Given the description of an element on the screen output the (x, y) to click on. 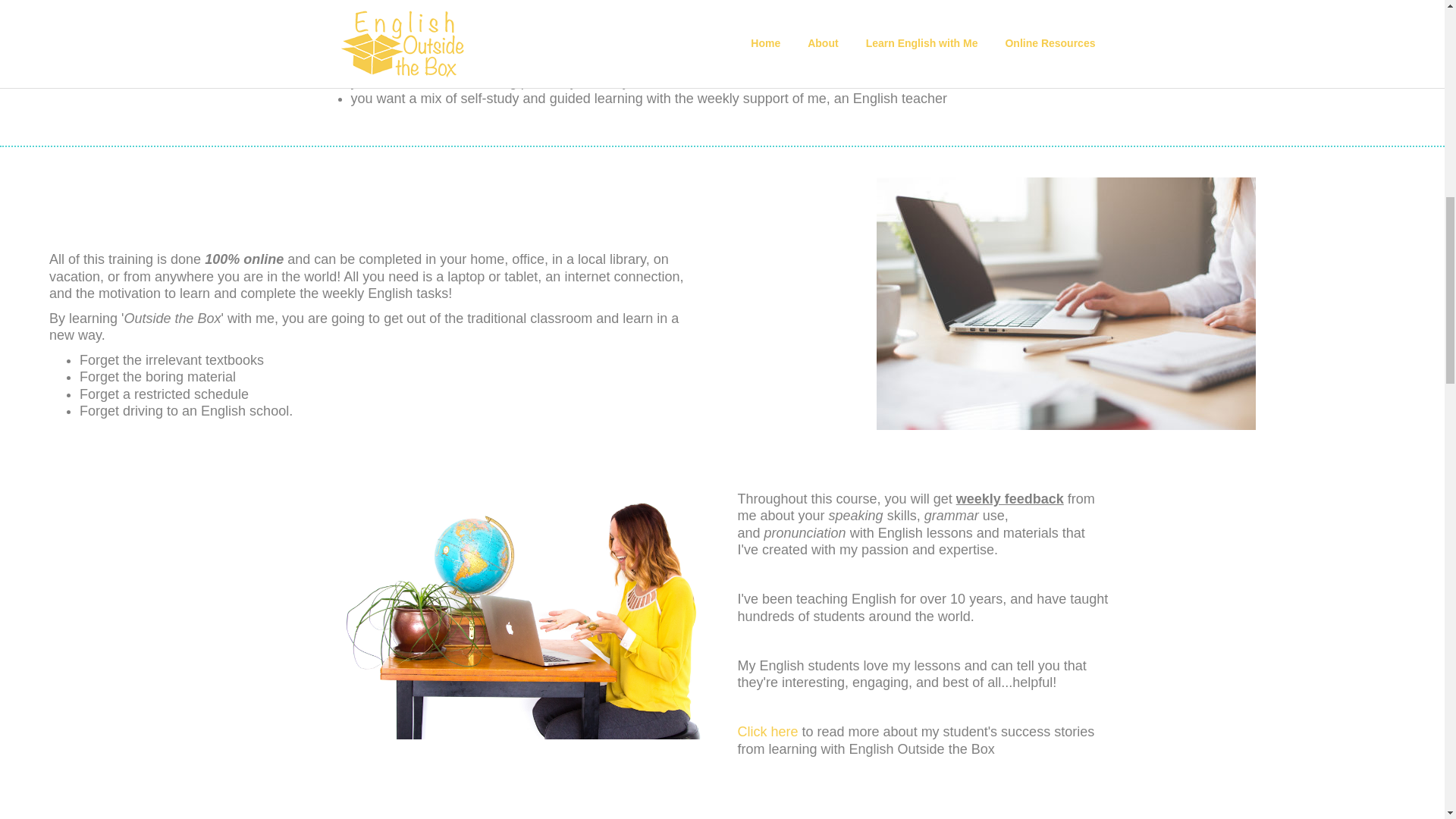
Click here (766, 731)
